Given the description of an element on the screen output the (x, y) to click on. 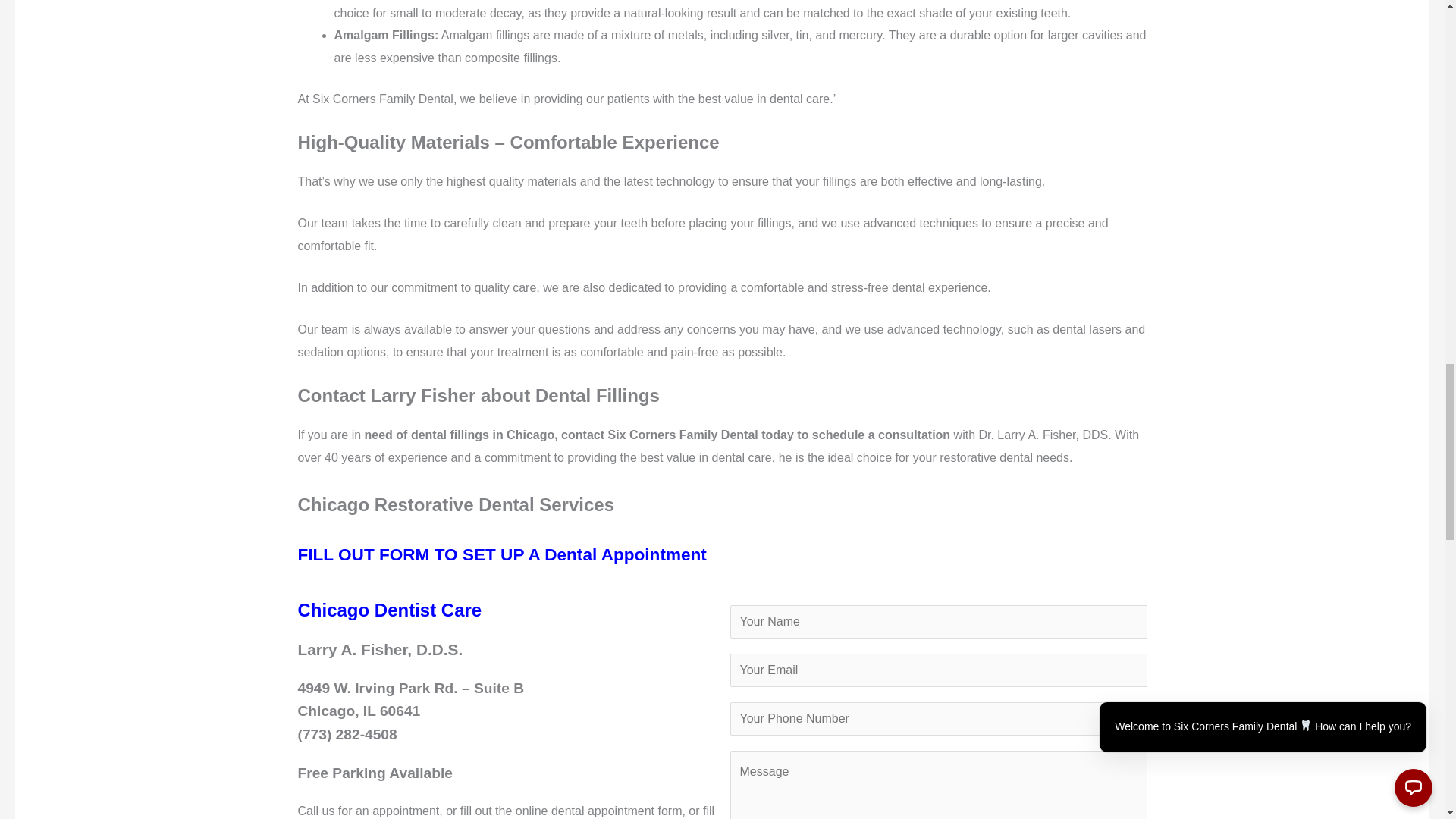
Set Appointment (501, 554)
